Given the description of an element on the screen output the (x, y) to click on. 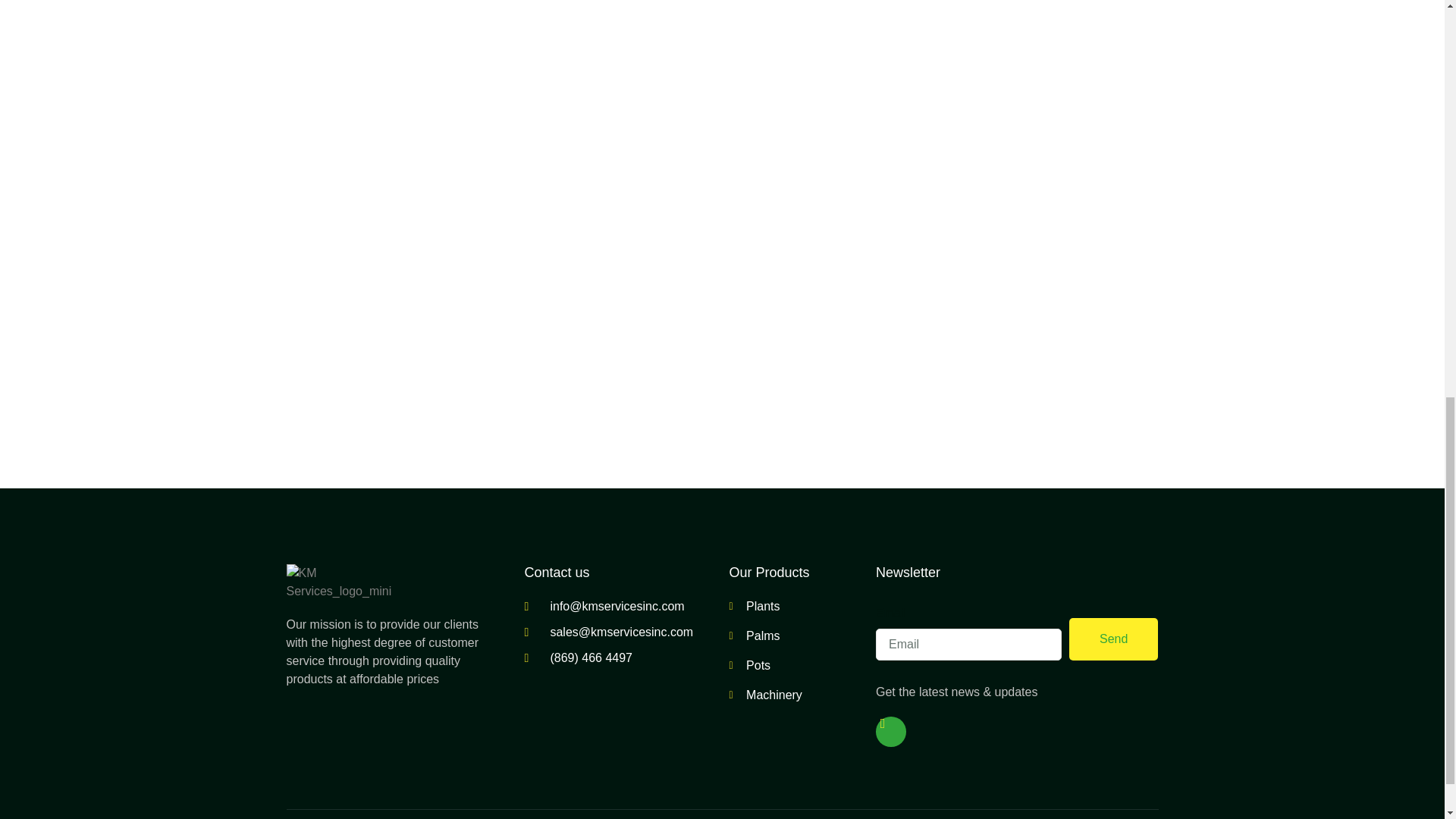
Pots (791, 665)
Machinery (791, 695)
Plants (791, 606)
Send (1112, 639)
Palms (791, 636)
